Given the description of an element on the screen output the (x, y) to click on. 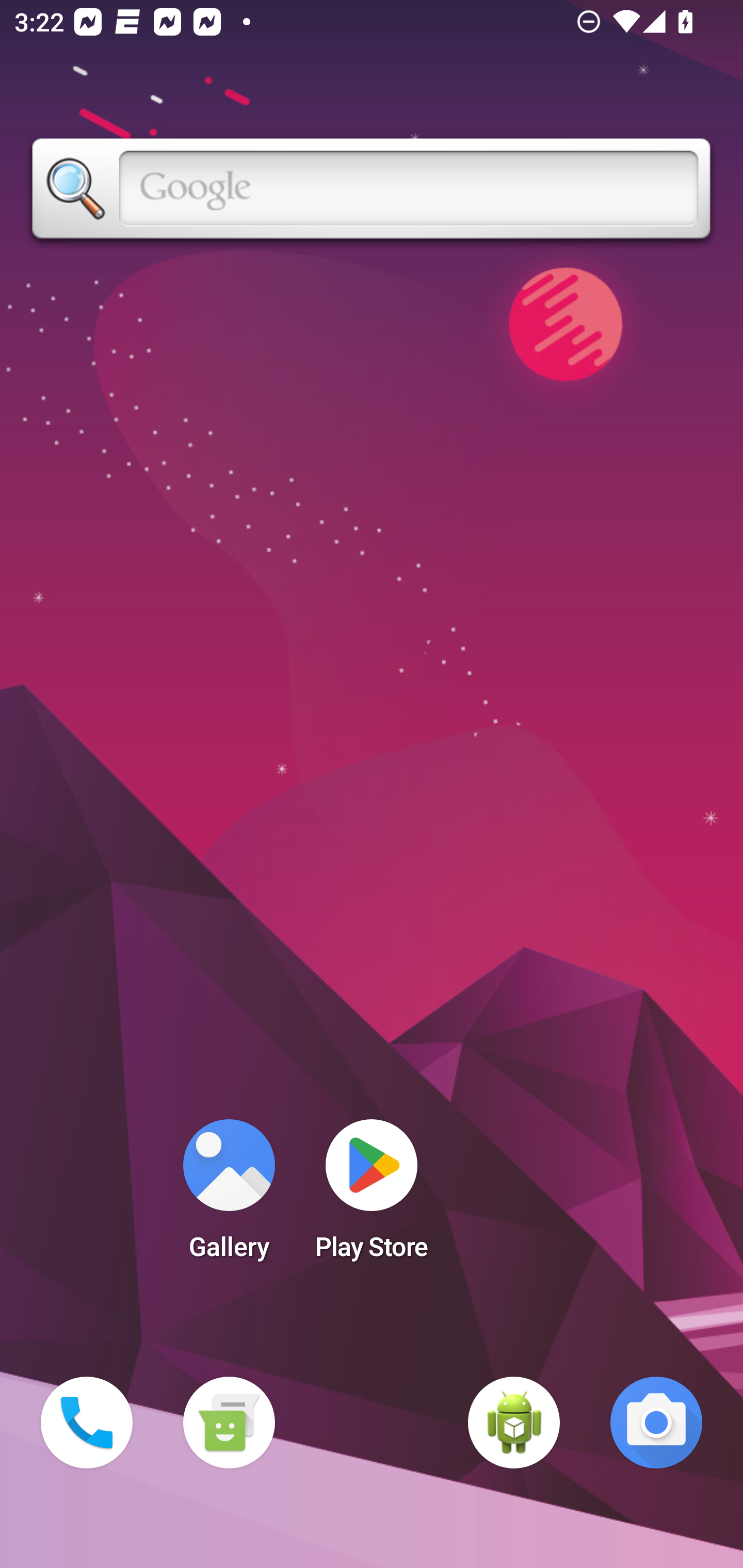
Gallery (228, 1195)
Play Store (371, 1195)
Phone (86, 1422)
Messaging (228, 1422)
WebView Browser Tester (513, 1422)
Camera (656, 1422)
